Given the description of an element on the screen output the (x, y) to click on. 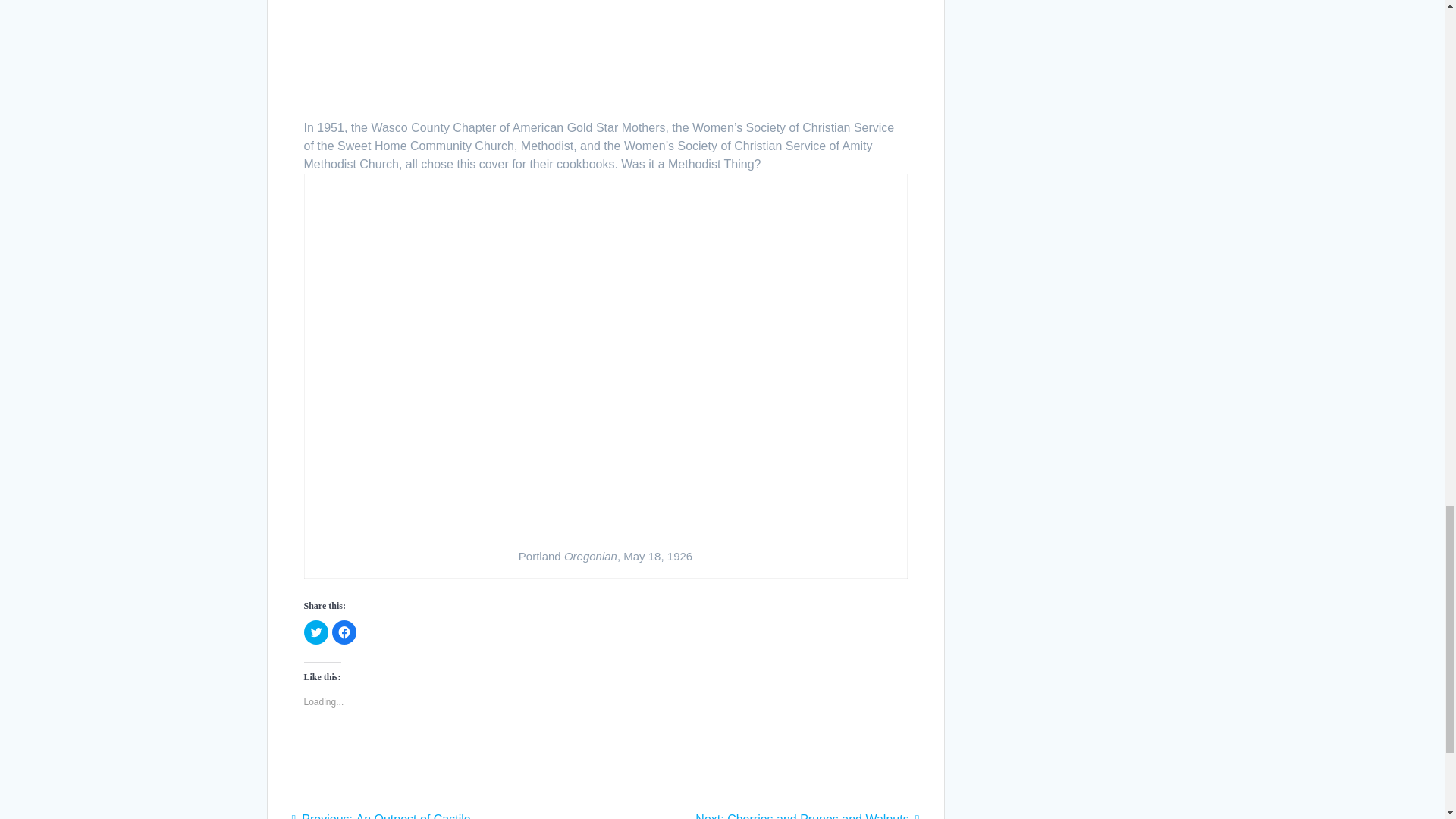
Click to share on Twitter (806, 816)
Click to share on Facebook (380, 816)
